Given the description of an element on the screen output the (x, y) to click on. 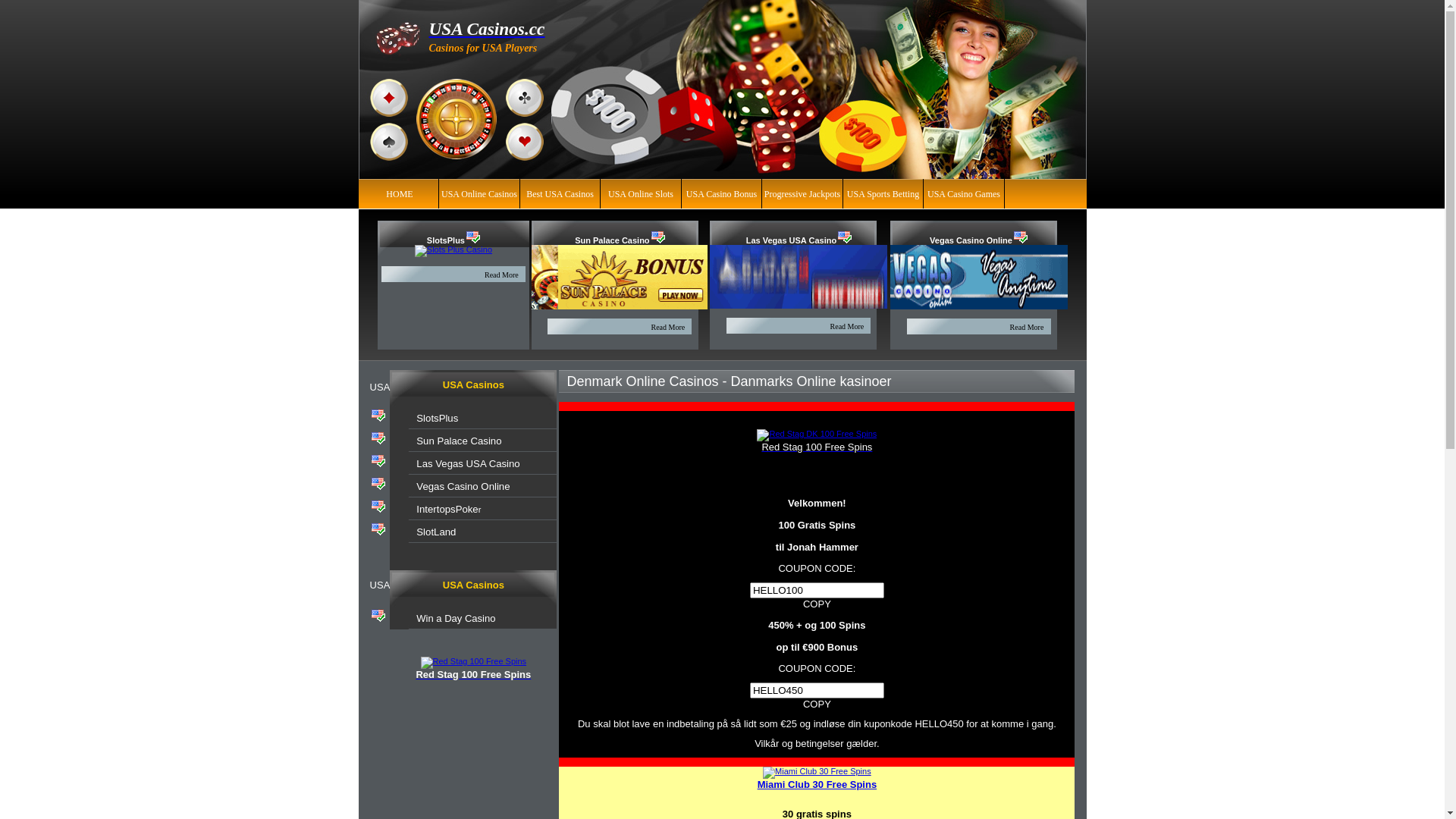
Read More Element type: text (667, 327)
Progressive Jackpots Element type: text (802, 193)
USA Online Casinos Element type: text (479, 193)
Las Vegas USA Casino Element type: text (467, 463)
Vegas Casino Online Element type: text (462, 486)
Red Stag 100 Free Spins Element type: text (816, 446)
SlotsPlus Element type: text (445, 239)
Read More Element type: text (1027, 327)
USA Sports Betting Element type: text (883, 193)
Red Stag 100 Free Spins Element type: text (472, 674)
Win a Day Casino Element type: text (455, 618)
USA Casino Games Element type: text (963, 193)
SlotsPlus Element type: text (437, 418)
USA Casino Bonus Element type: text (721, 193)
Sun Palace Casino Element type: text (458, 440)
Las Vegas USA Casino Element type: text (791, 239)
USA Online Slots Element type: text (640, 193)
Read More Element type: text (847, 325)
Miami Club 30 Free Spins Element type: text (817, 784)
HOME Element type: text (398, 193)
Vegas Casino Online Element type: text (970, 239)
Best USA Casinos Element type: text (559, 193)
IntertopsPoker Element type: text (448, 509)
Red Stag 100 Free
                                Spins Element type: hover (473, 662)
SlotLand Element type: text (435, 531)
USA Casinos.cc Element type: text (487, 28)
Sun Palace Casino Element type: text (611, 239)
Read More Element type: text (501, 273)
